Given the description of an element on the screen output the (x, y) to click on. 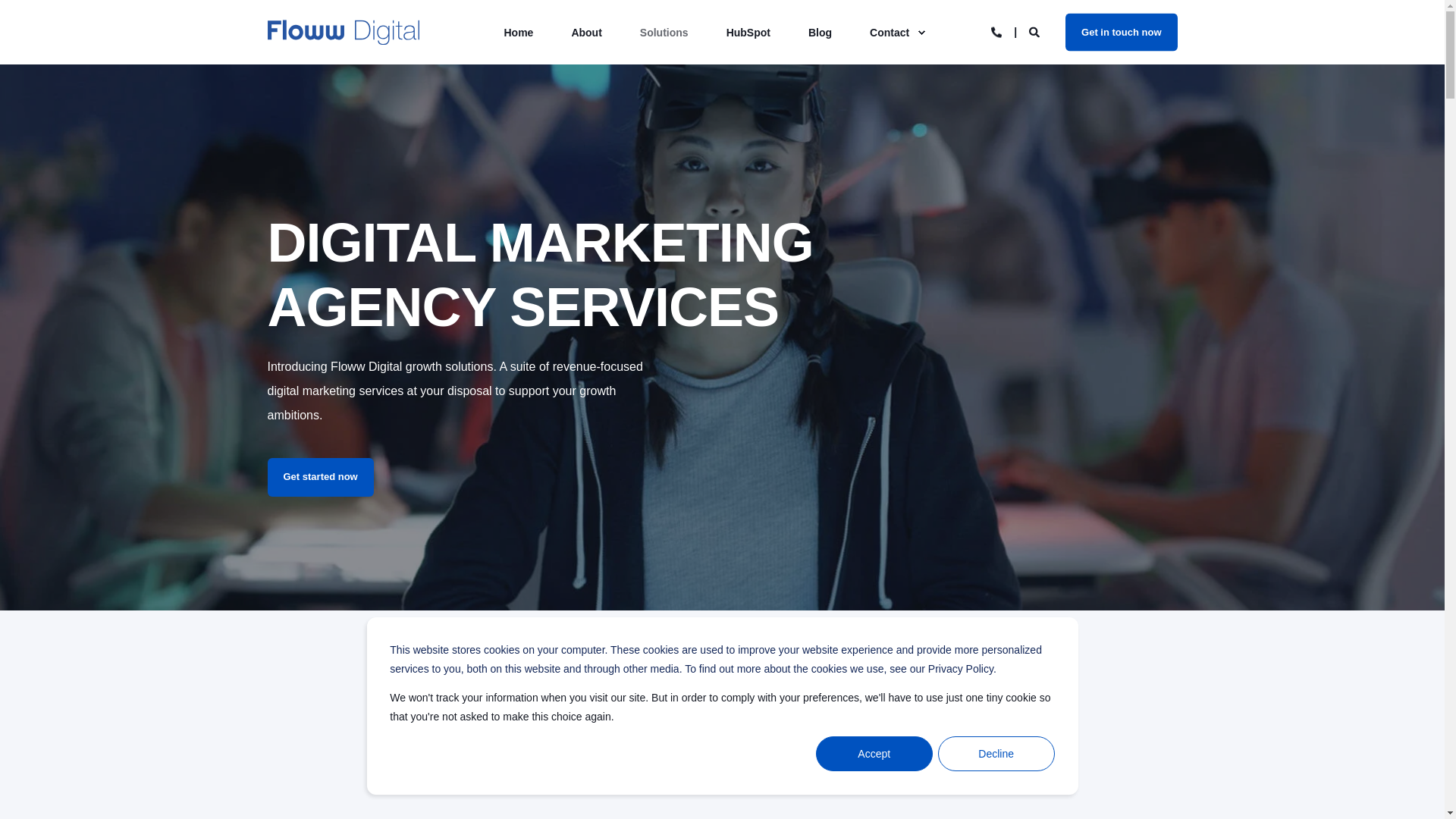
Blog (819, 32)
Solutions (664, 32)
HubSpot (748, 32)
Get in touch now (1120, 32)
Get started now (319, 476)
Button Get started now (319, 476)
About (585, 32)
Contact (890, 32)
